Given the description of an element on the screen output the (x, y) to click on. 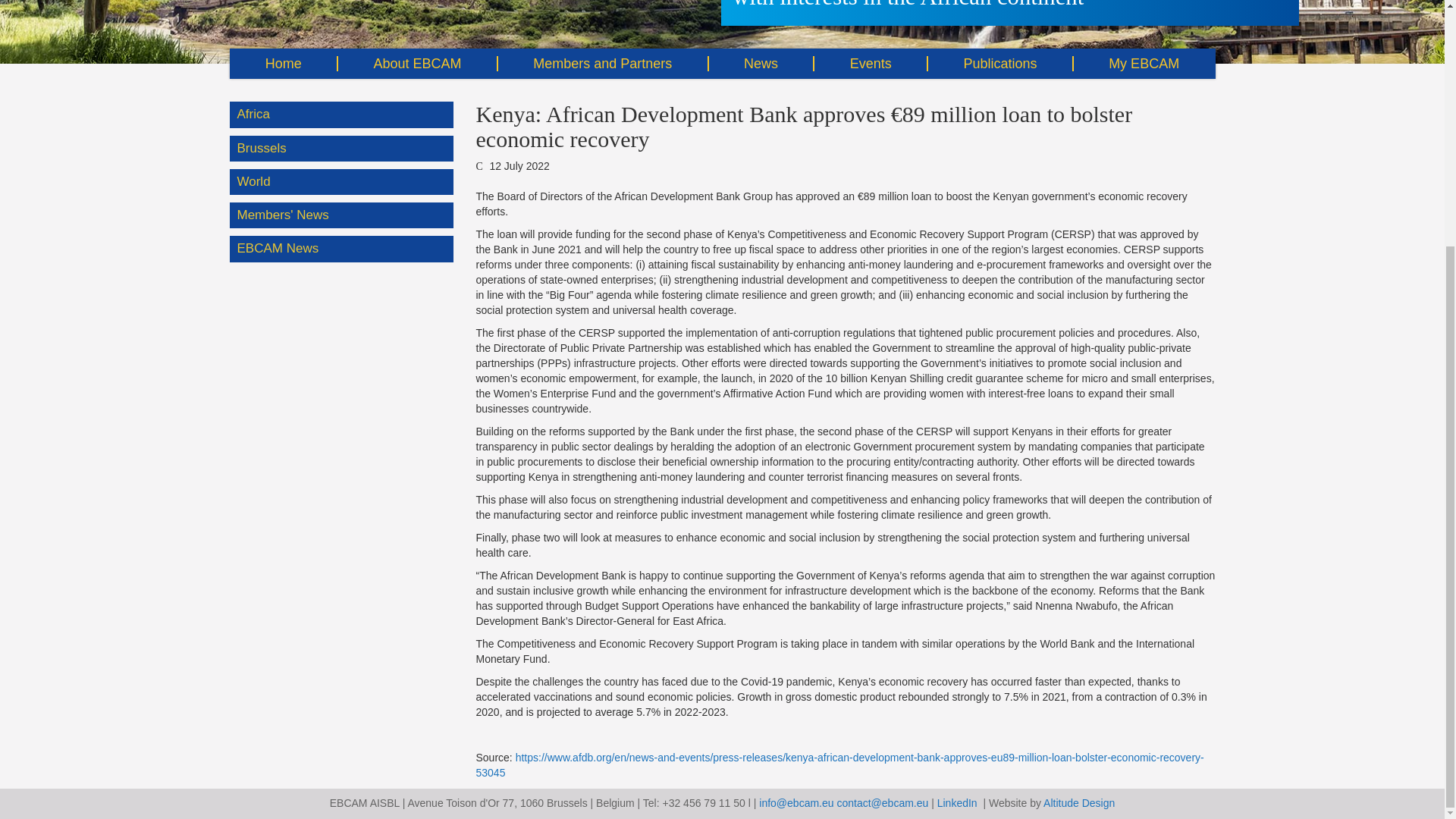
Members and Partners (602, 63)
About EBCAM (417, 63)
My EBCAM (1144, 63)
Home (282, 63)
News (760, 63)
Events (870, 63)
Publications (1000, 63)
